Given the description of an element on the screen output the (x, y) to click on. 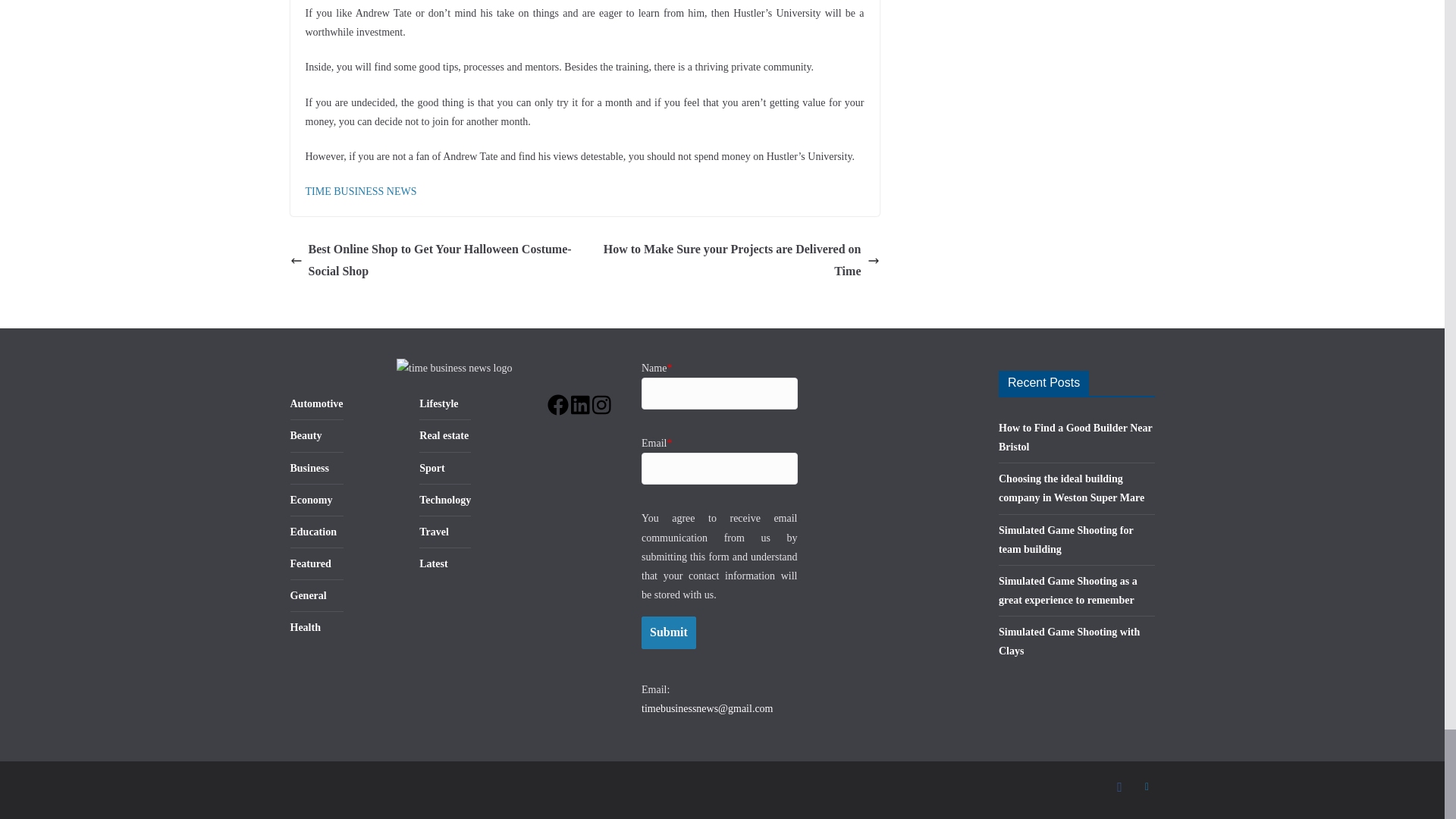
Beauty (305, 435)
Business (309, 468)
Automotive (315, 403)
Education (312, 531)
Best Online Shop to Get Your Halloween Costume-Social Shop (432, 260)
Economy (310, 500)
TIME BUSINESS NEWS (360, 191)
How to Make Sure your Projects are Delivered on Time (735, 260)
